Given the description of an element on the screen output the (x, y) to click on. 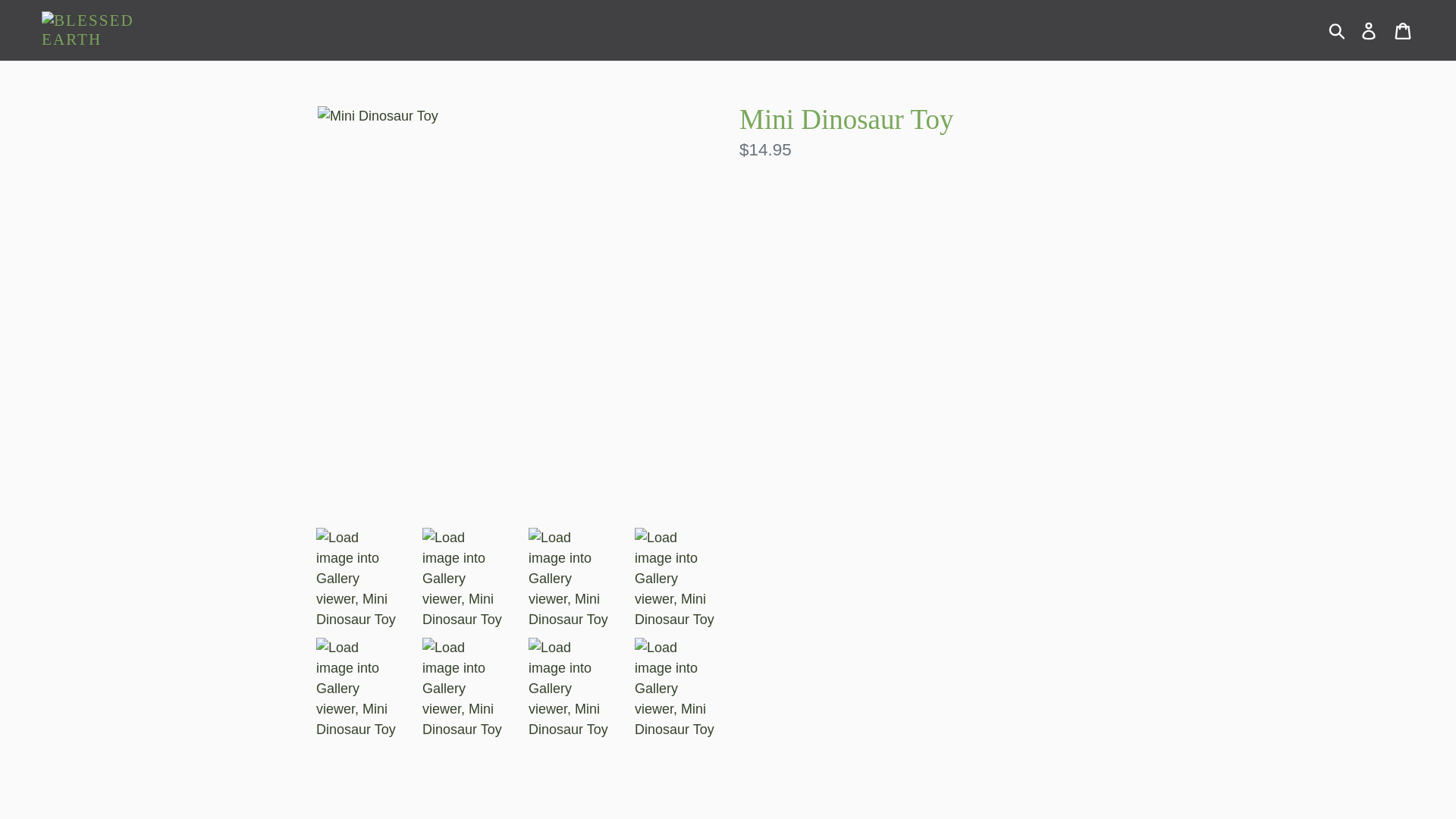
Submit (1337, 29)
Cart (1404, 30)
Log in (1369, 30)
